Given the description of an element on the screen output the (x, y) to click on. 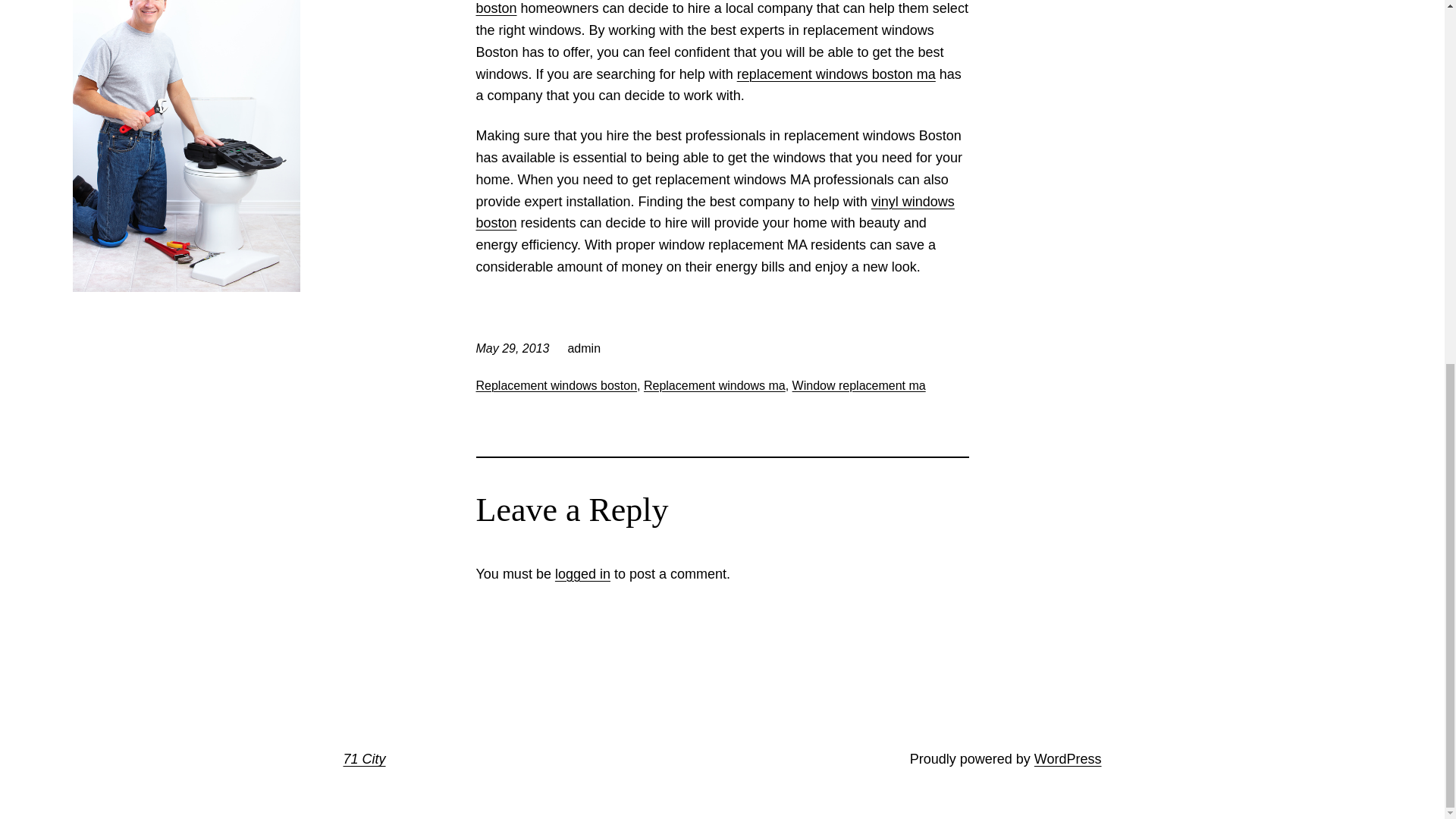
Replacement windows ma (714, 385)
Vinyl windows boston, Window replacement boston (714, 7)
Window replacement boston, Replacement windows boston ma (715, 212)
replacement windows boston ma (836, 73)
71 City (363, 758)
Window replacement boston, Replacement windows ma (836, 73)
Replacement windows boston (556, 385)
logged in (582, 573)
replacement windows boston (714, 7)
Window replacement ma (859, 385)
WordPress (1067, 758)
vinyl windows boston (715, 212)
